Given the description of an element on the screen output the (x, y) to click on. 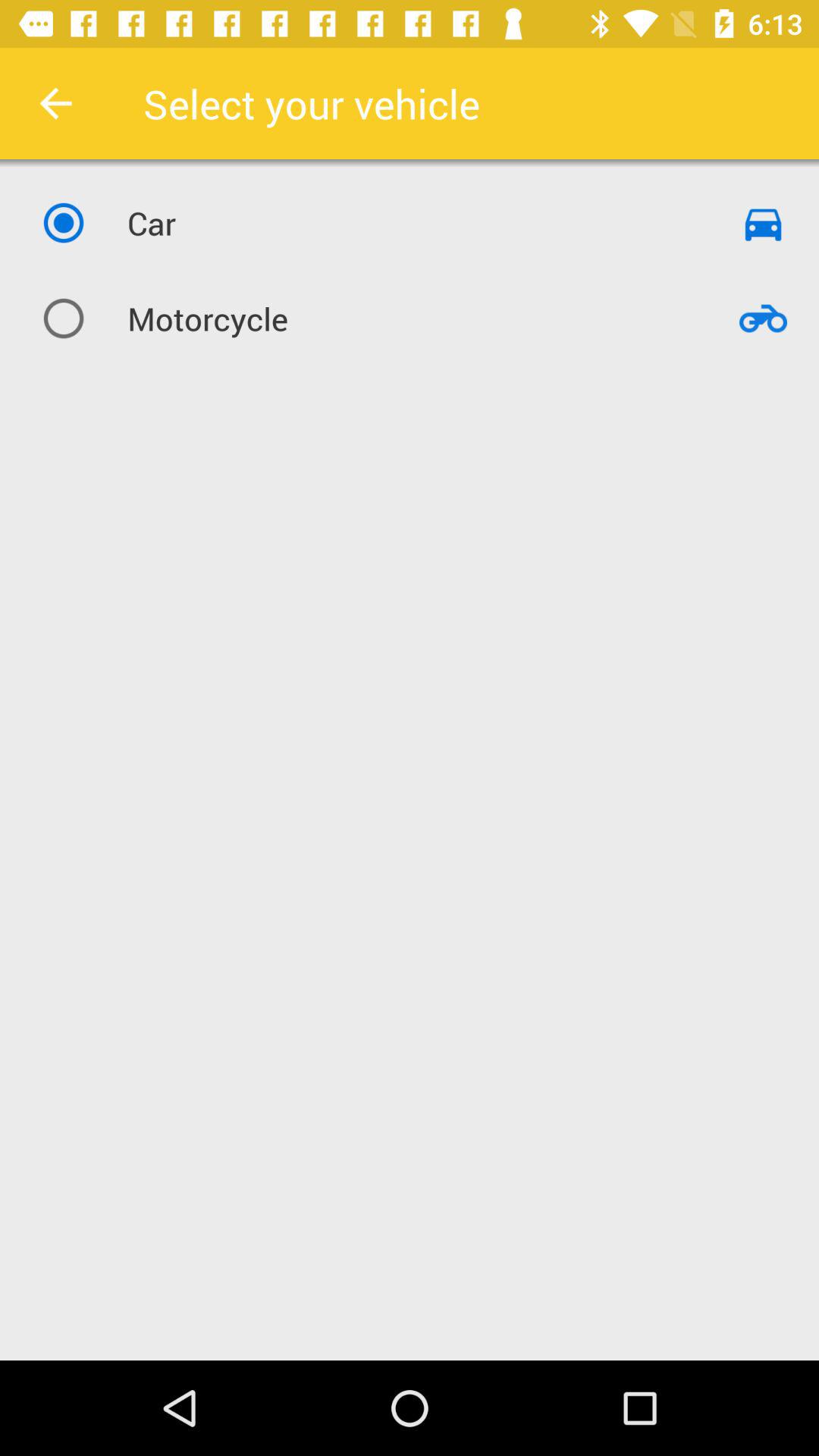
back (55, 103)
